Given the description of an element on the screen output the (x, y) to click on. 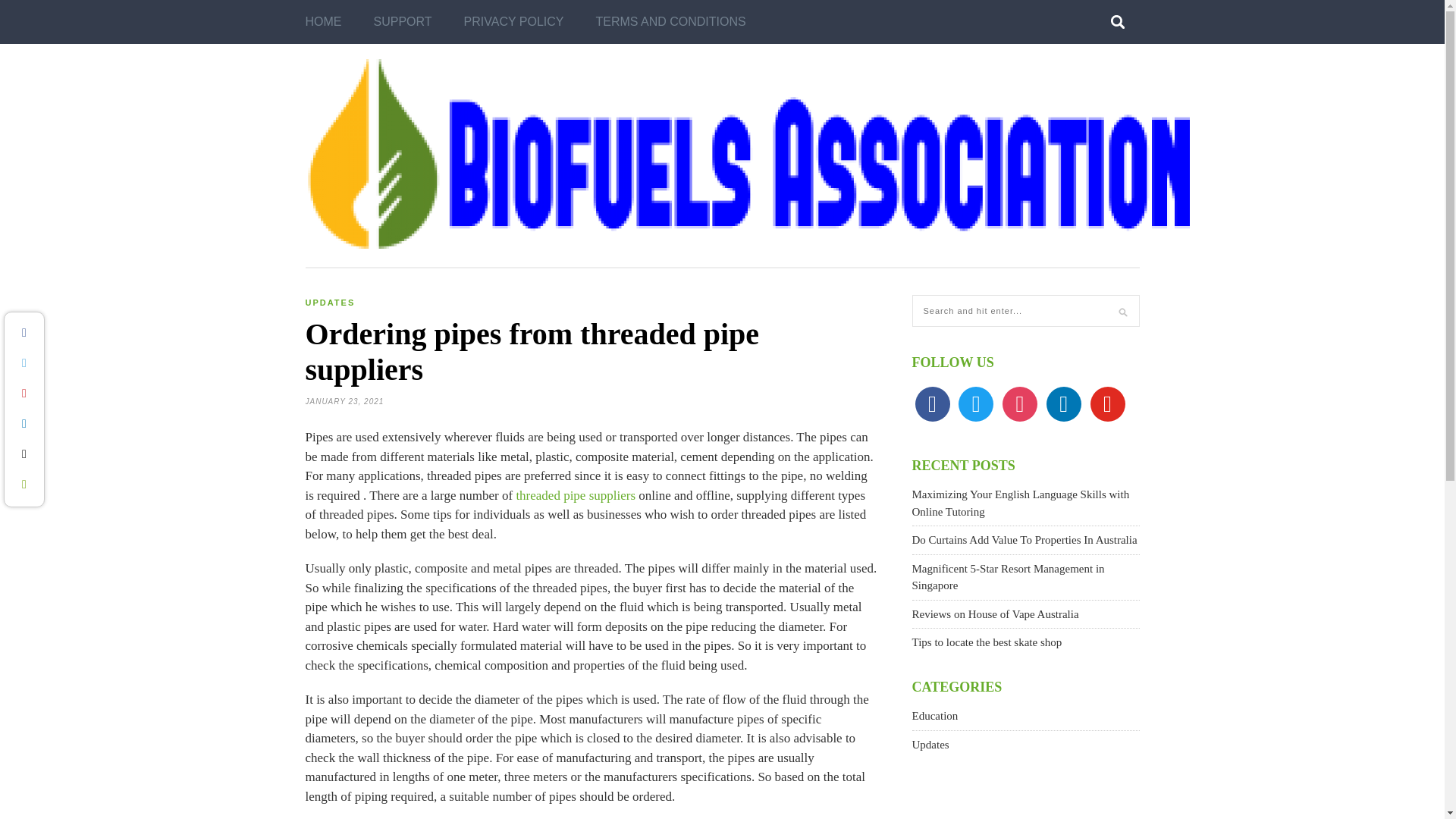
View all posts in Updates (329, 302)
PRIVACY POLICY (514, 22)
Magnificent 5-Star Resort Management in Singapore (1007, 577)
Do Curtains Add Value To Properties In Australia (1024, 539)
SUPPORT (401, 22)
Education (934, 715)
instagram (1019, 402)
facebook (931, 402)
linkedin (1063, 402)
threaded pipe suppliers (574, 495)
